Given the description of an element on the screen output the (x, y) to click on. 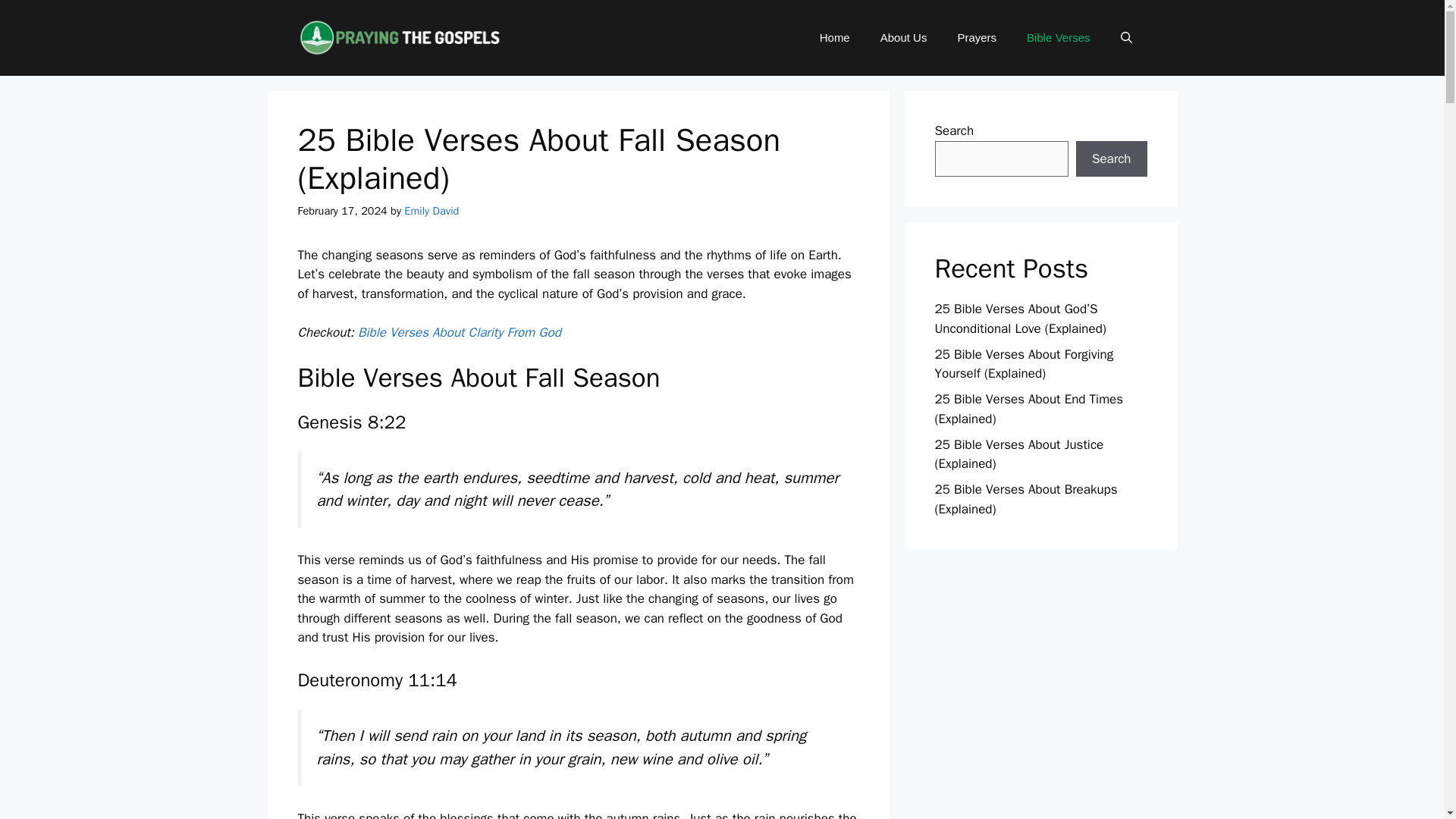
Bible Verses About Clarity From God (459, 332)
Search (1111, 158)
About Us (903, 37)
View all posts by Emily David (431, 210)
Prayers (976, 37)
Home (834, 37)
Emily David (431, 210)
Bible Verses (1058, 37)
